Given the description of an element on the screen output the (x, y) to click on. 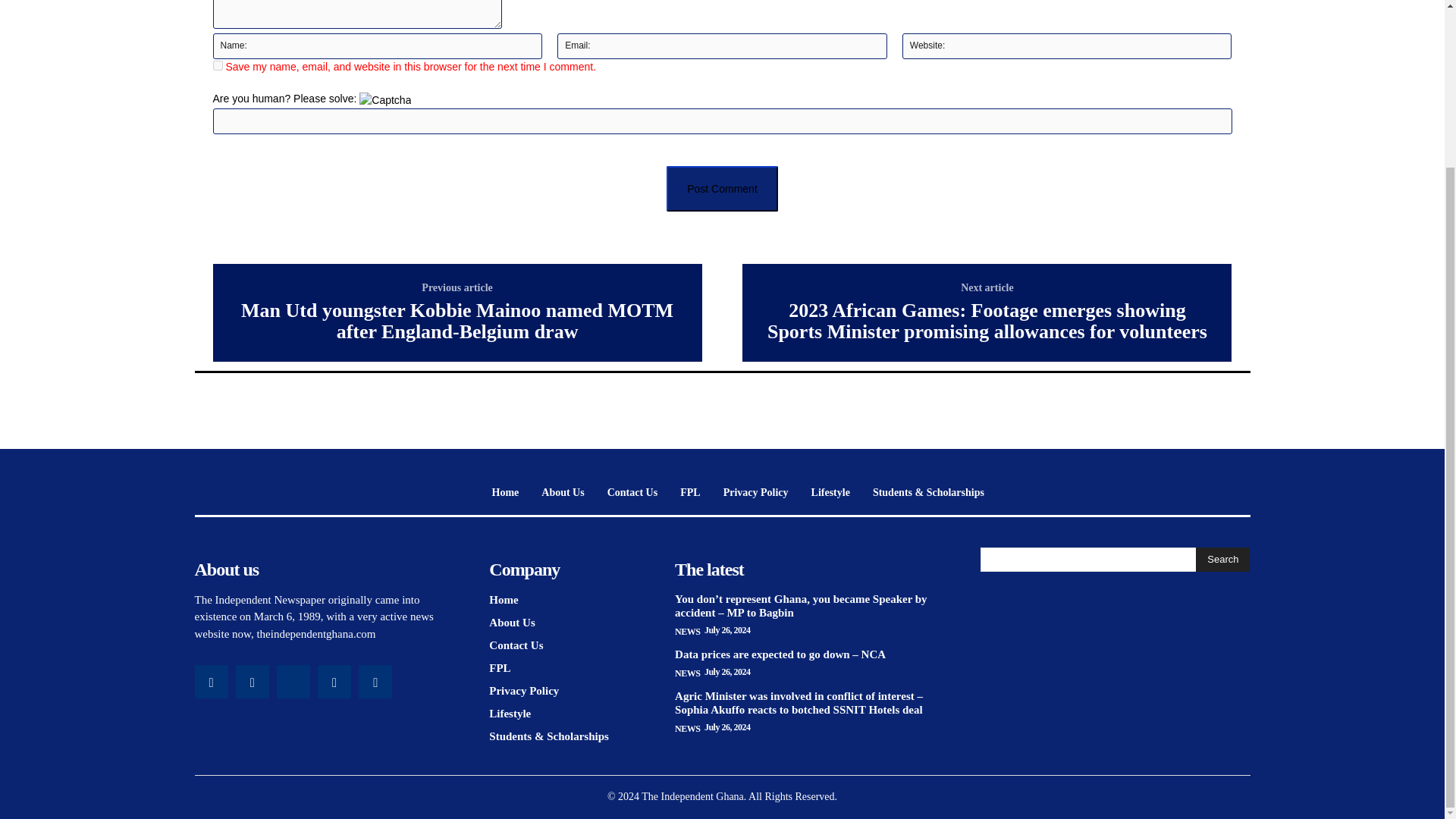
yes (217, 65)
Post Comment (721, 188)
